Given the description of an element on the screen output the (x, y) to click on. 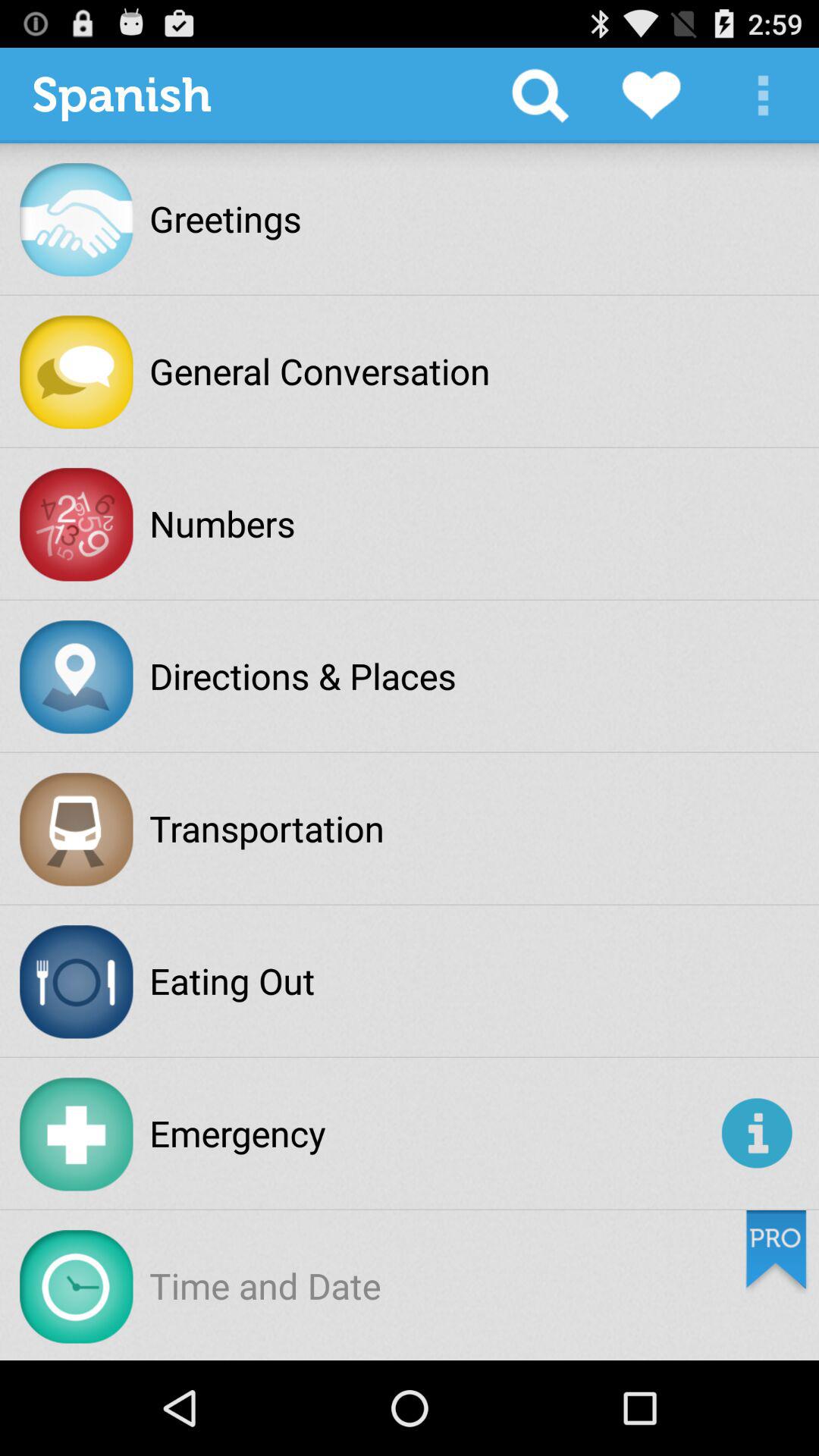
turn on the time and date item (265, 1285)
